Given the description of an element on the screen output the (x, y) to click on. 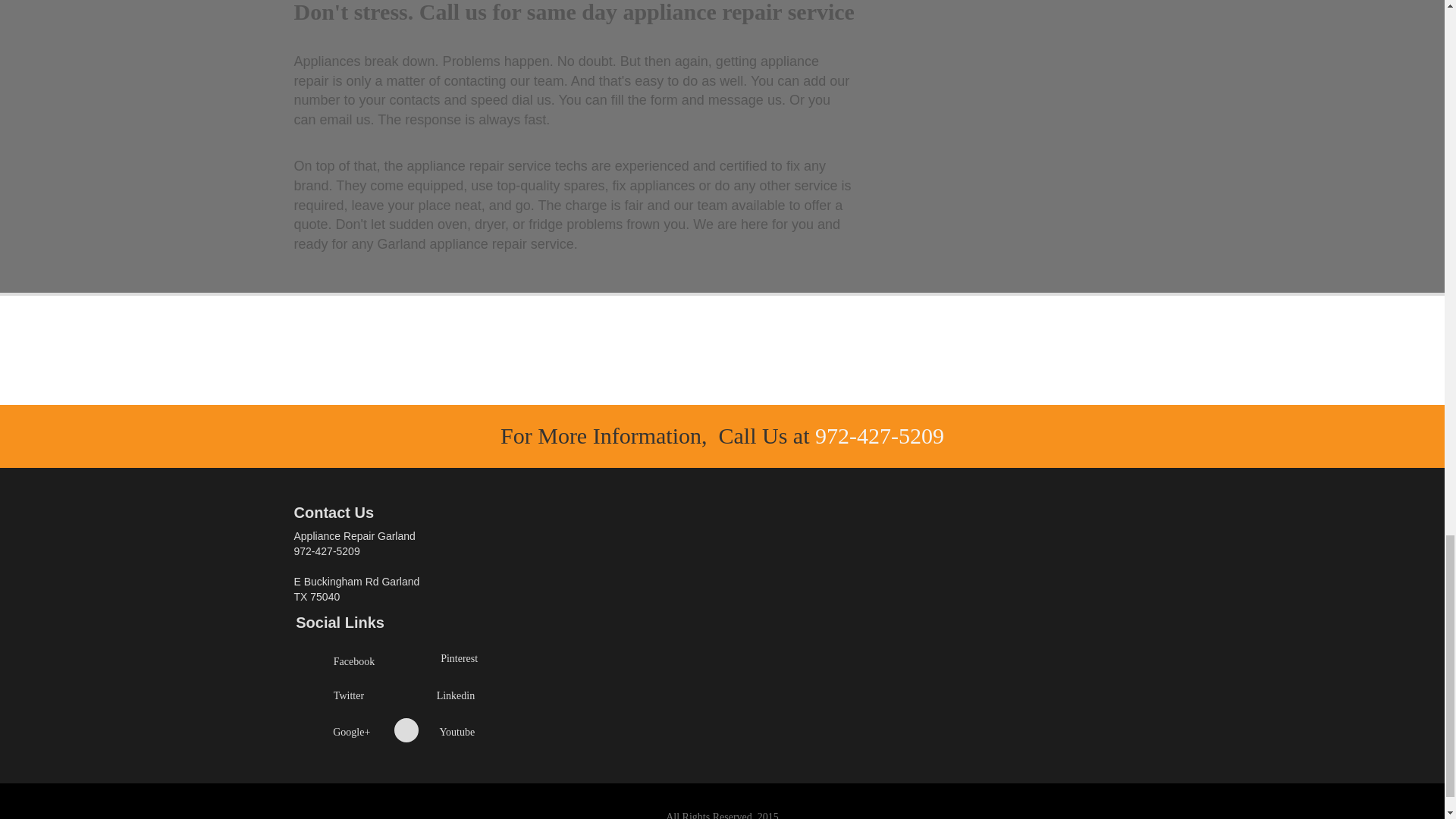
Twitter (348, 695)
972-427-5209 (879, 435)
Facebook (353, 661)
